Given the description of an element on the screen output the (x, y) to click on. 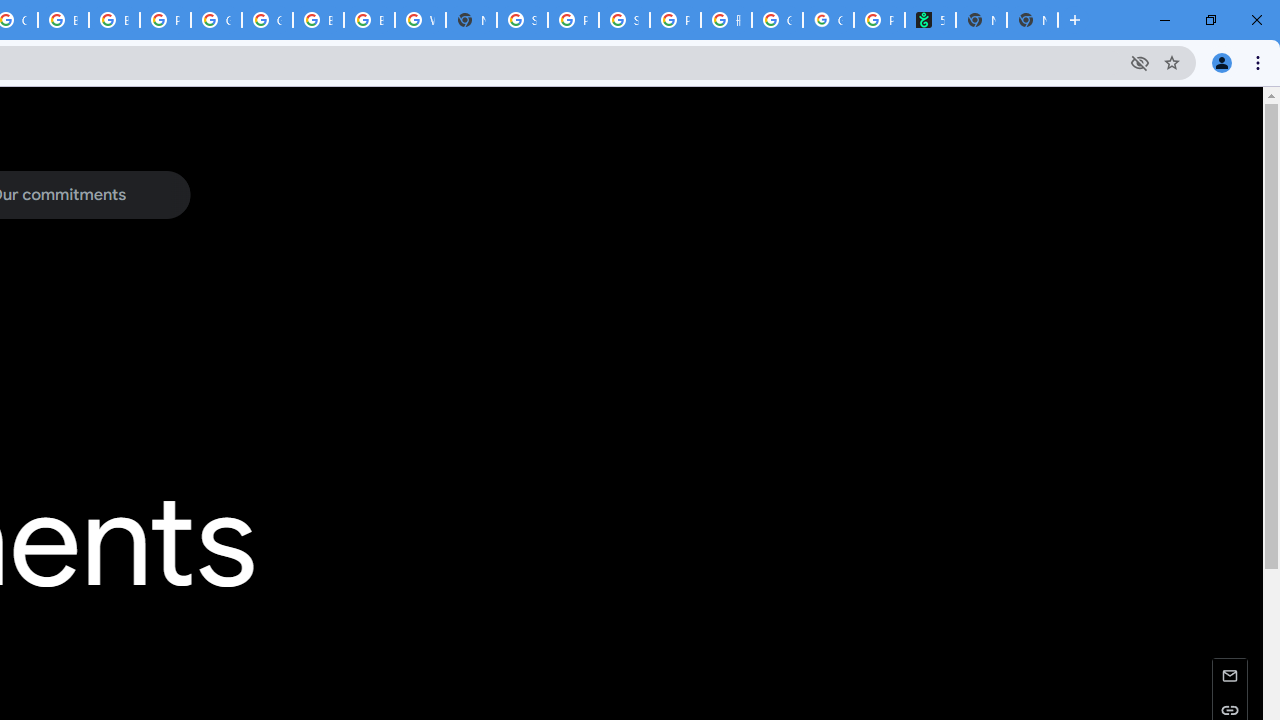
Browse Chrome as a guest - Computer - Google Chrome Help (63, 20)
Browse Chrome as a guest - Computer - Google Chrome Help (318, 20)
New Tab (1032, 20)
Google Cloud Platform (215, 20)
